Given the description of an element on the screen output the (x, y) to click on. 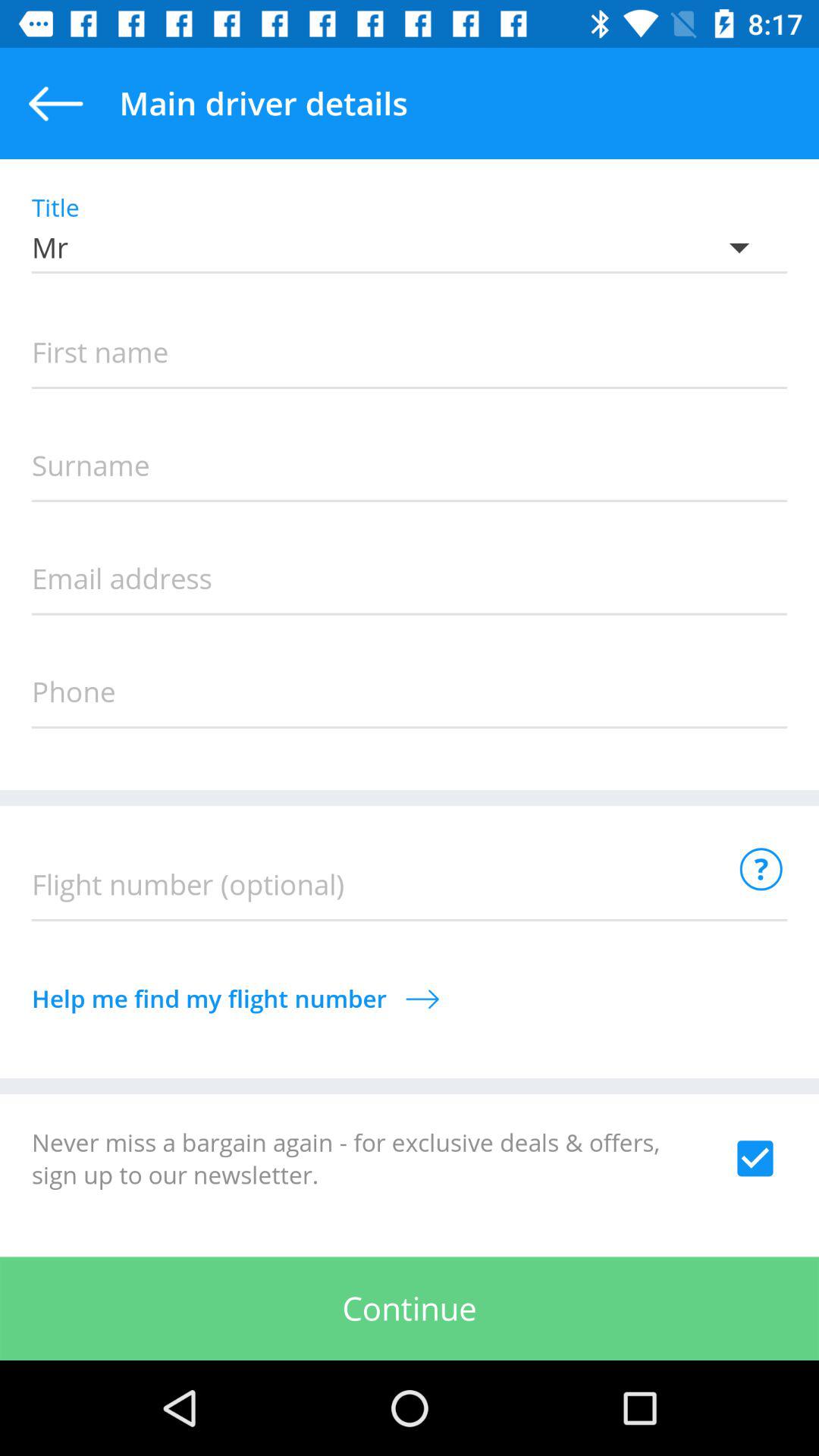
share the article (755, 1158)
